Given the description of an element on the screen output the (x, y) to click on. 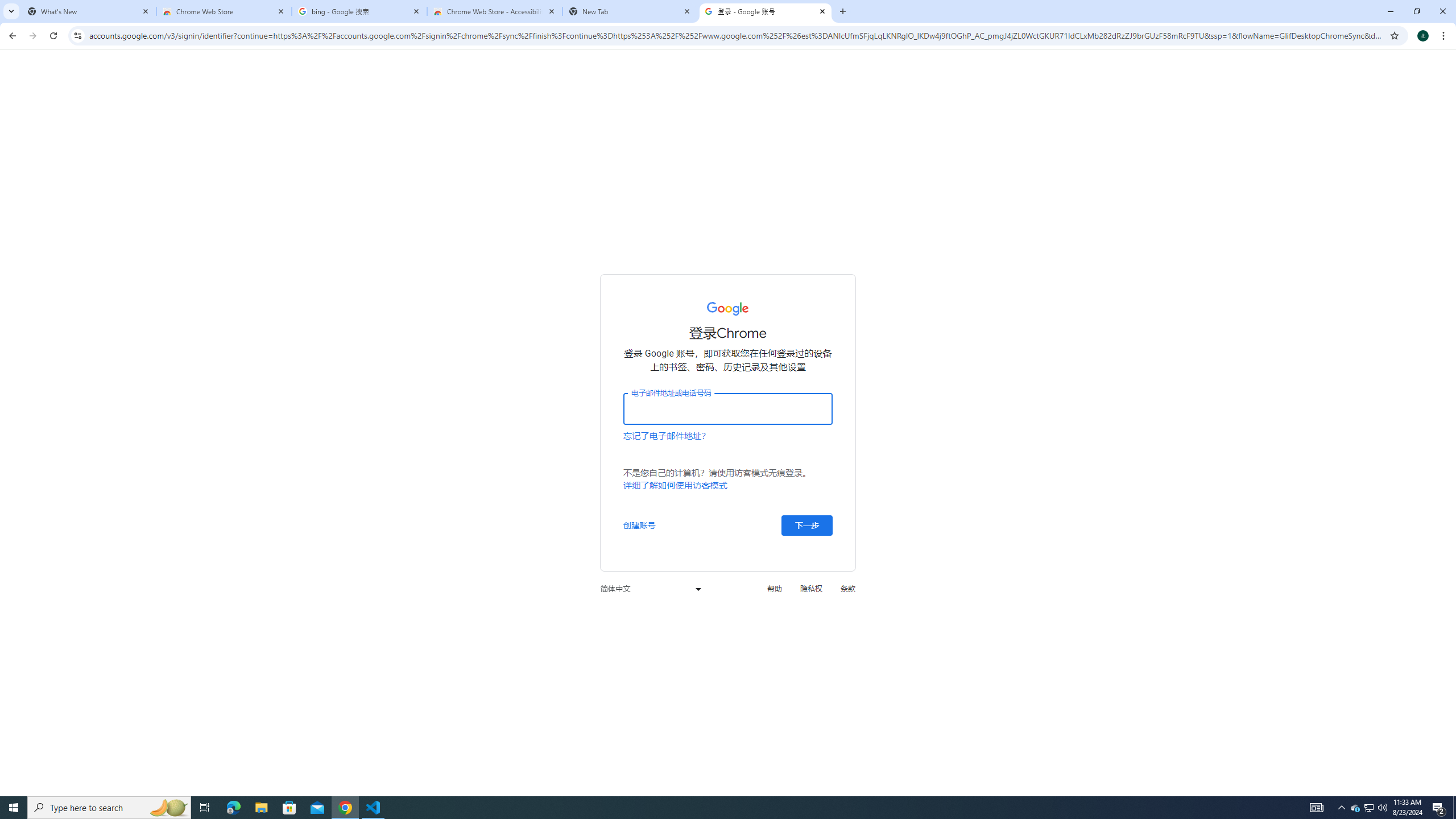
New Tab (630, 11)
Chrome Web Store (224, 11)
Chrome Web Store - Accessibility (494, 11)
